Given the description of an element on the screen output the (x, y) to click on. 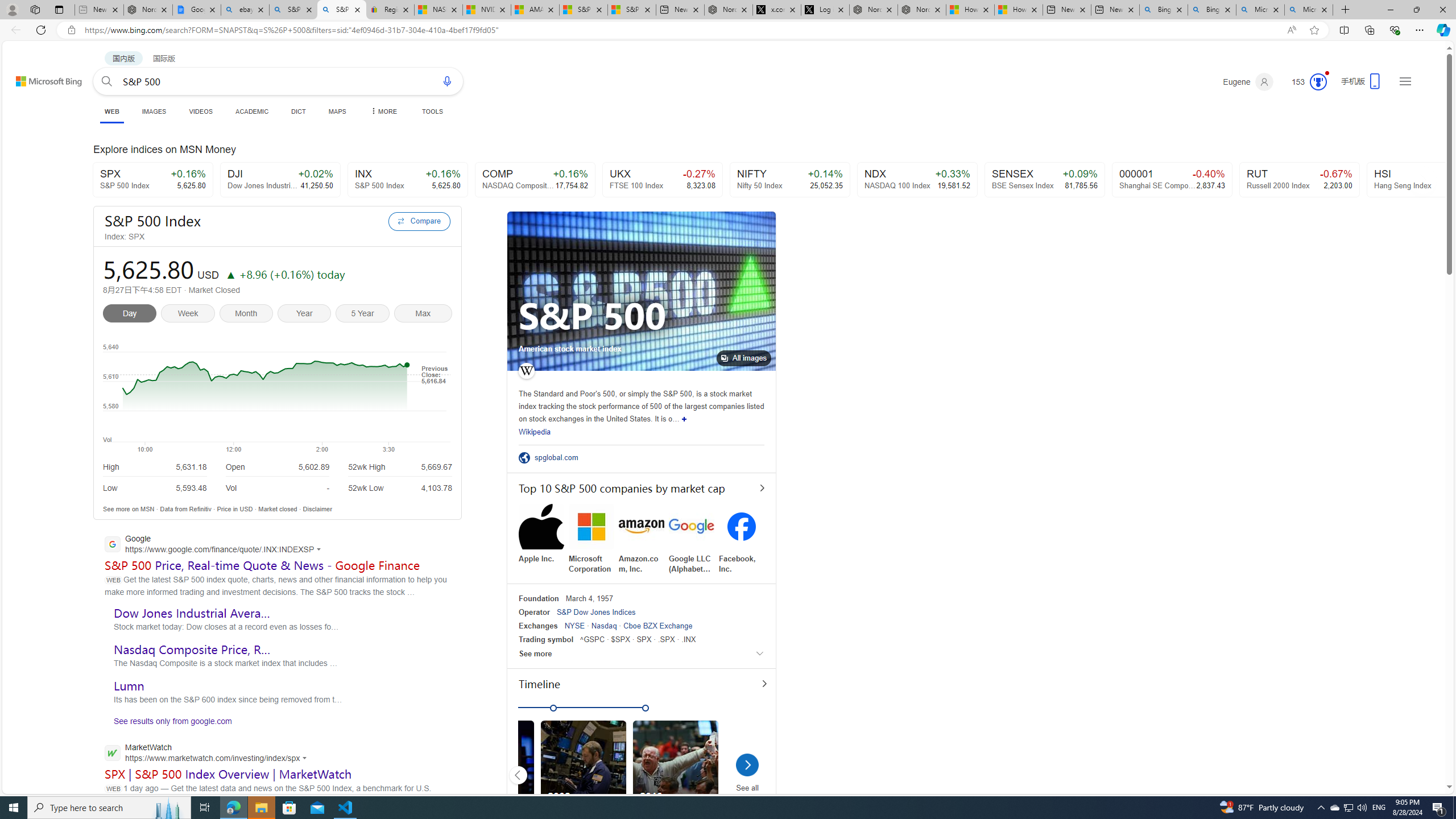
NYSE (574, 625)
S&P 500, Nasdaq end lower, weighed by Nvidia dip | Watch (631, 9)
Amazon.com, Inc. (640, 538)
IMAGES (153, 111)
RUT -0.67% Russell 2000 Index 2,203.00 (1299, 179)
INX+0.16%S&P 500 Index5,625.80 (407, 179)
Click to scroll right (1422, 179)
Compare (418, 220)
